Given the description of an element on the screen output the (x, y) to click on. 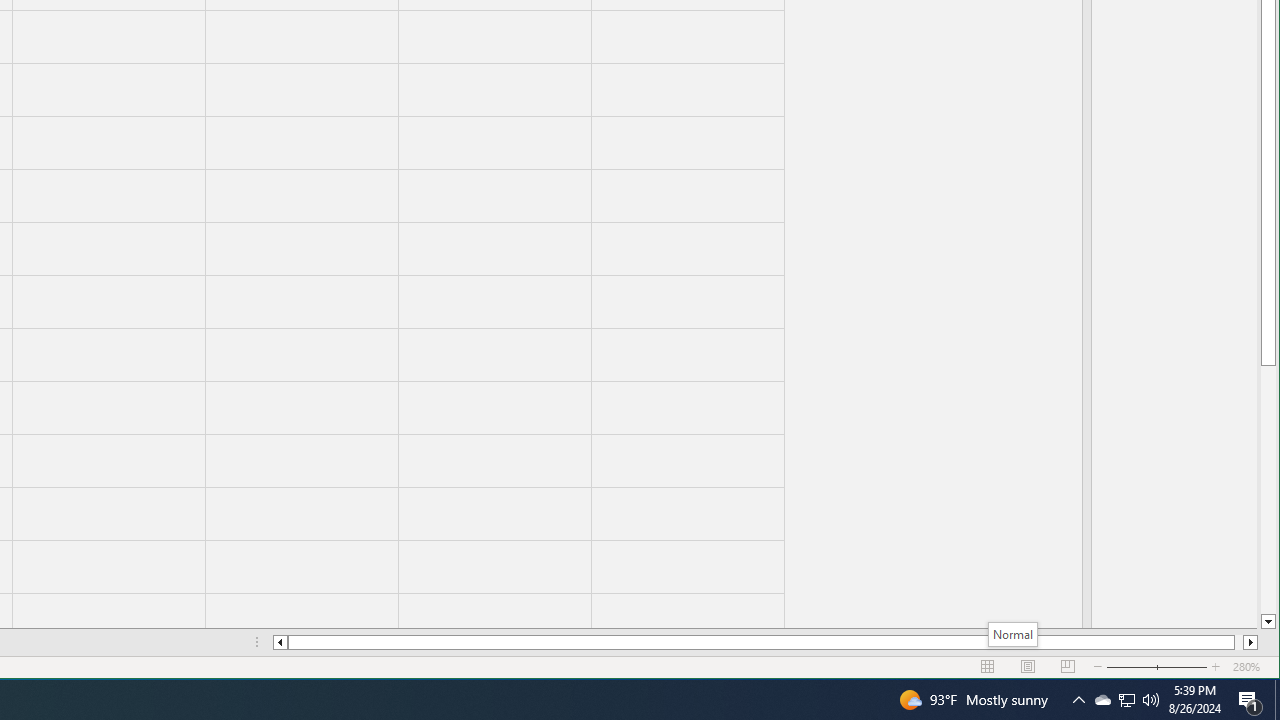
Column left (279, 642)
Show desktop (1277, 699)
Page down (1268, 489)
Column right (1250, 642)
Action Center, 1 new notification (1250, 699)
Normal (987, 667)
Zoom In (1215, 667)
Notification Chevron (1078, 699)
Line down (1268, 622)
Page right (1238, 642)
User Promoted Notification Area (1126, 699)
Normal (1013, 634)
Zoom (1157, 667)
Zoom Out (1144, 667)
